Given the description of an element on the screen output the (x, y) to click on. 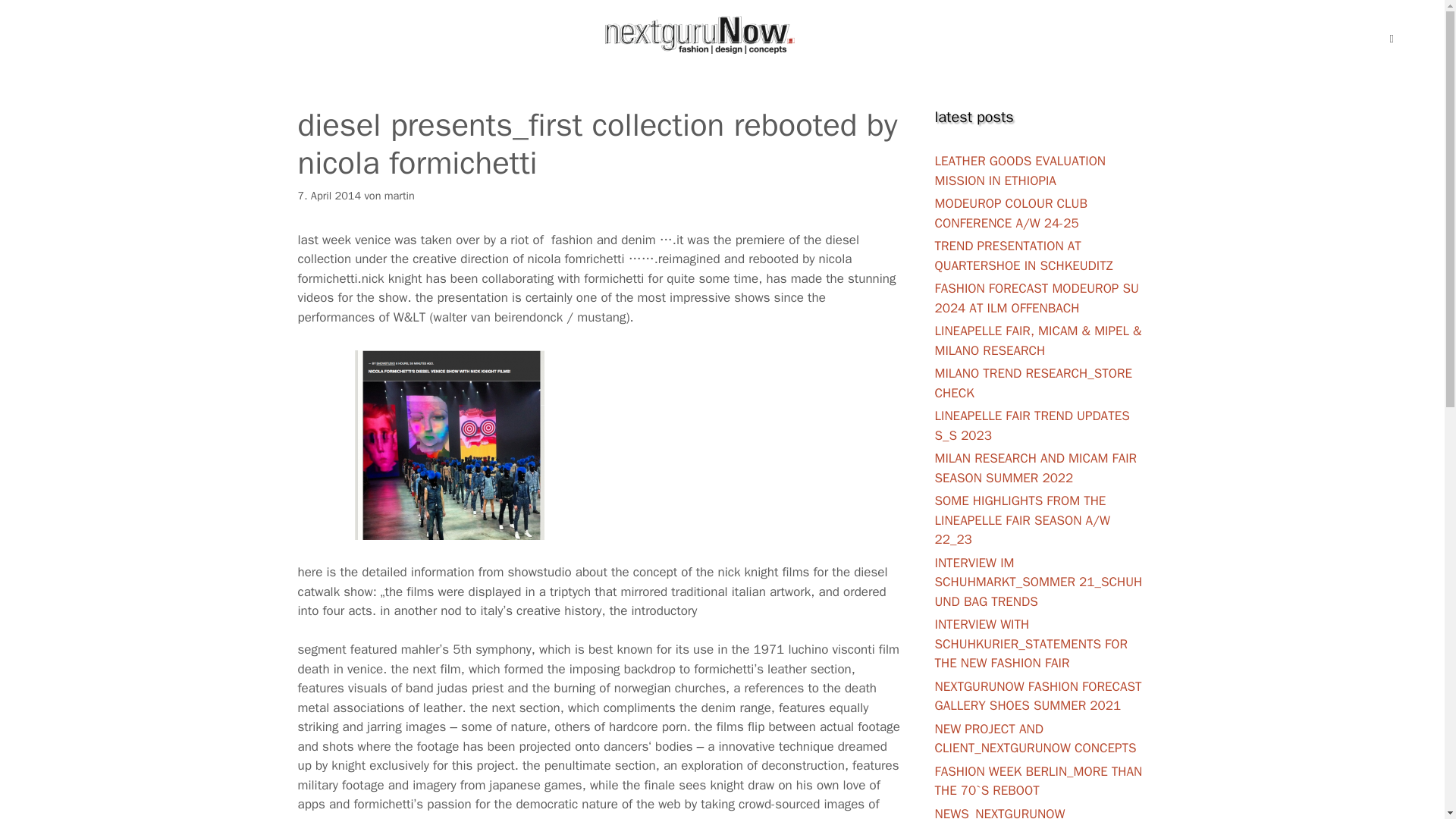
LEATHER GOODS EVALUATION MISSION IN ETHIOPIA (1019, 171)
TREND PRESENTATION AT QUARTERSHOE IN SCHKEUDITZ (1023, 255)
MILAN RESEARCH AND MICAM FAIR SEASON SUMMER 2022 (1035, 468)
martin (399, 195)
FASHION FORECAST MODEUROP SU 2024 AT ILM OFFENBACH (1036, 298)
